Given the description of an element on the screen output the (x, y) to click on. 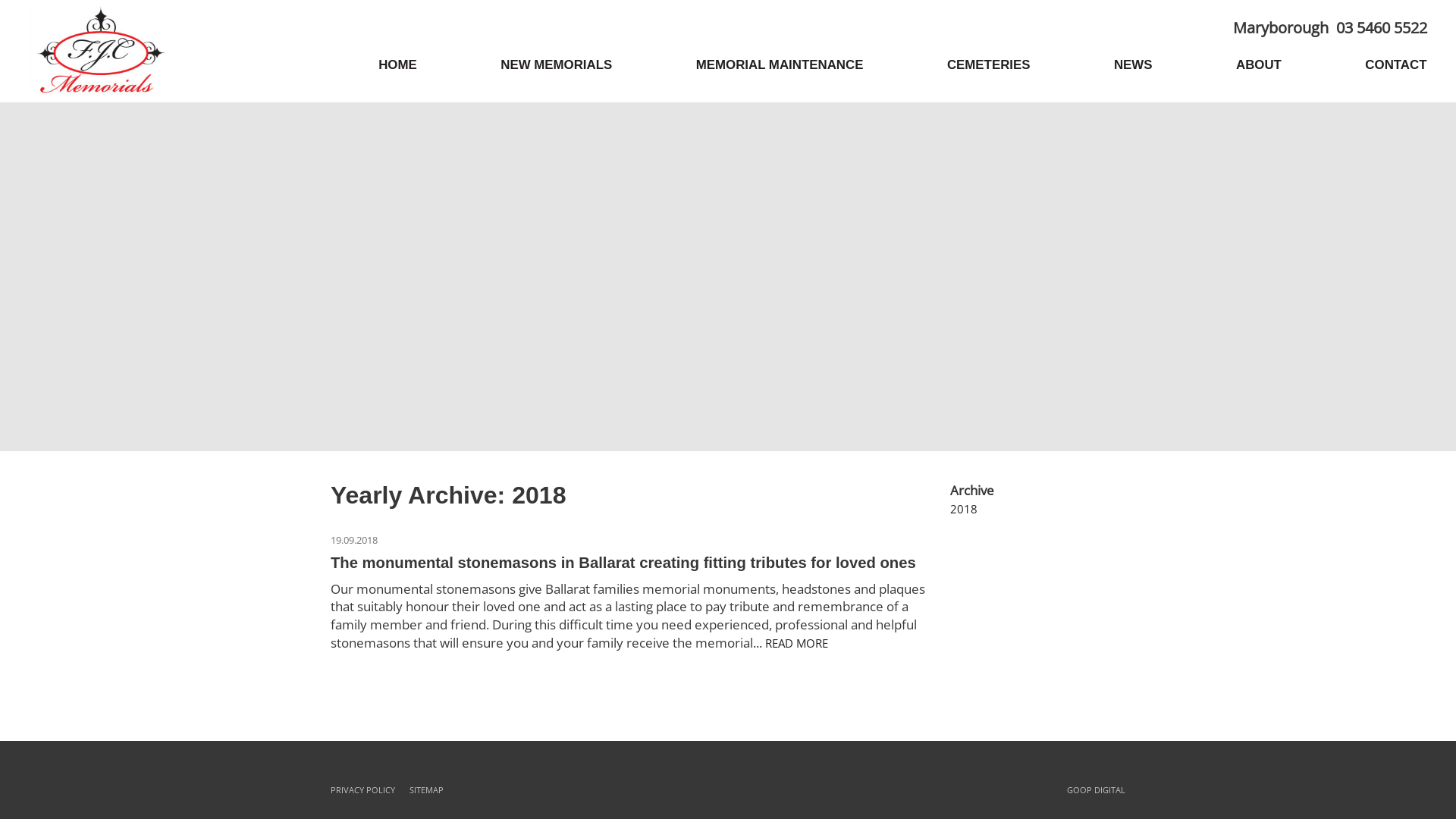
NEW MEMORIALS Element type: text (555, 65)
CONTACT Element type: text (1395, 65)
CEMETERIES Element type: text (988, 65)
NEWS Element type: text (1132, 65)
03 5460 5522 Element type: text (1381, 26)
READ MORE Element type: text (796, 642)
PRIVACY POLICY Element type: text (362, 790)
FJC Memorials Element type: hover (99, 50)
MEMORIAL MAINTENANCE Element type: text (779, 65)
2018 Element type: text (963, 508)
ABOUT Element type: text (1258, 65)
SITEMAP Element type: text (426, 790)
HOME Element type: text (397, 65)
